Given the description of an element on the screen output the (x, y) to click on. 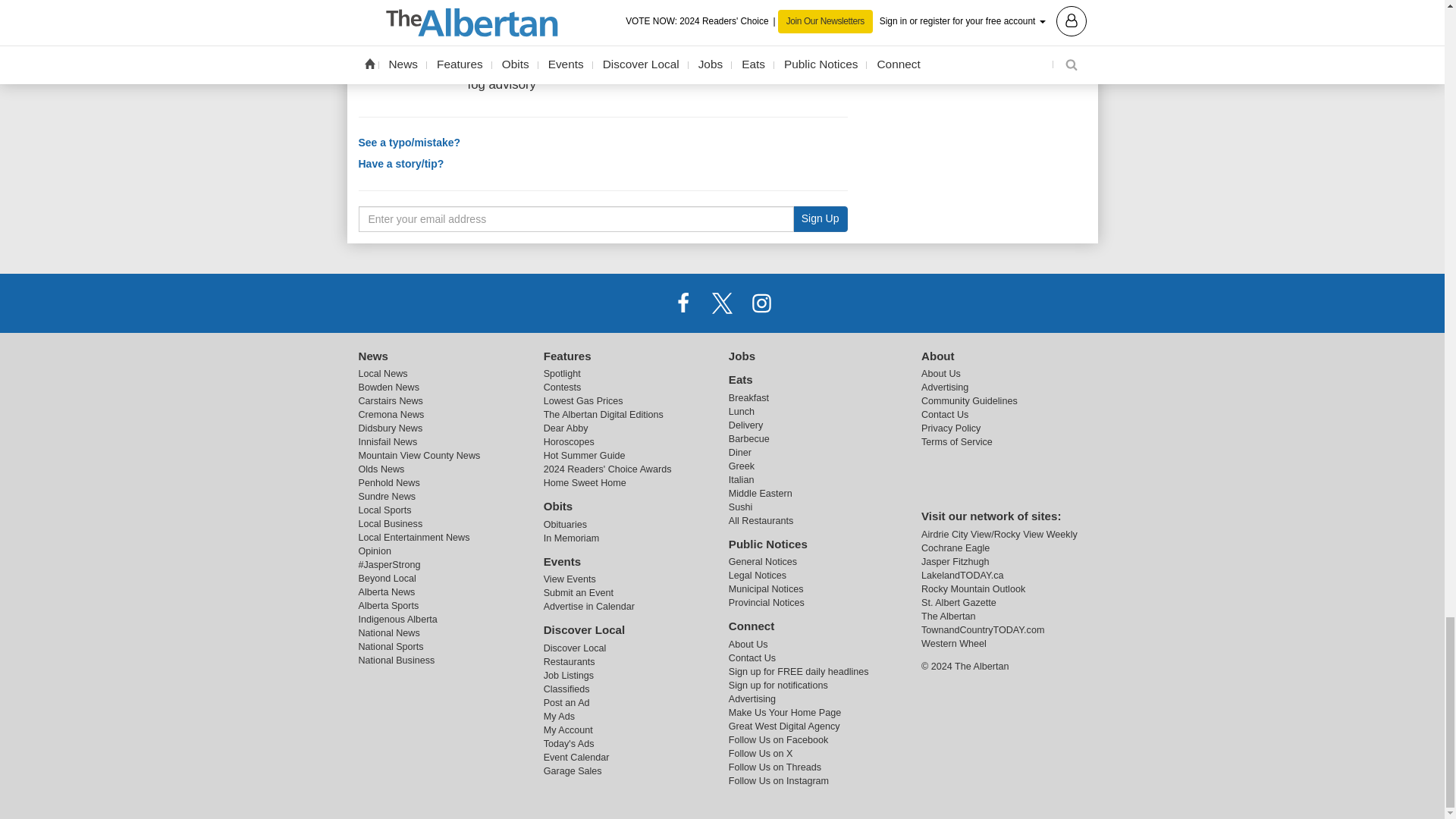
X (721, 302)
Instagram (760, 302)
Facebook (683, 302)
